Given the description of an element on the screen output the (x, y) to click on. 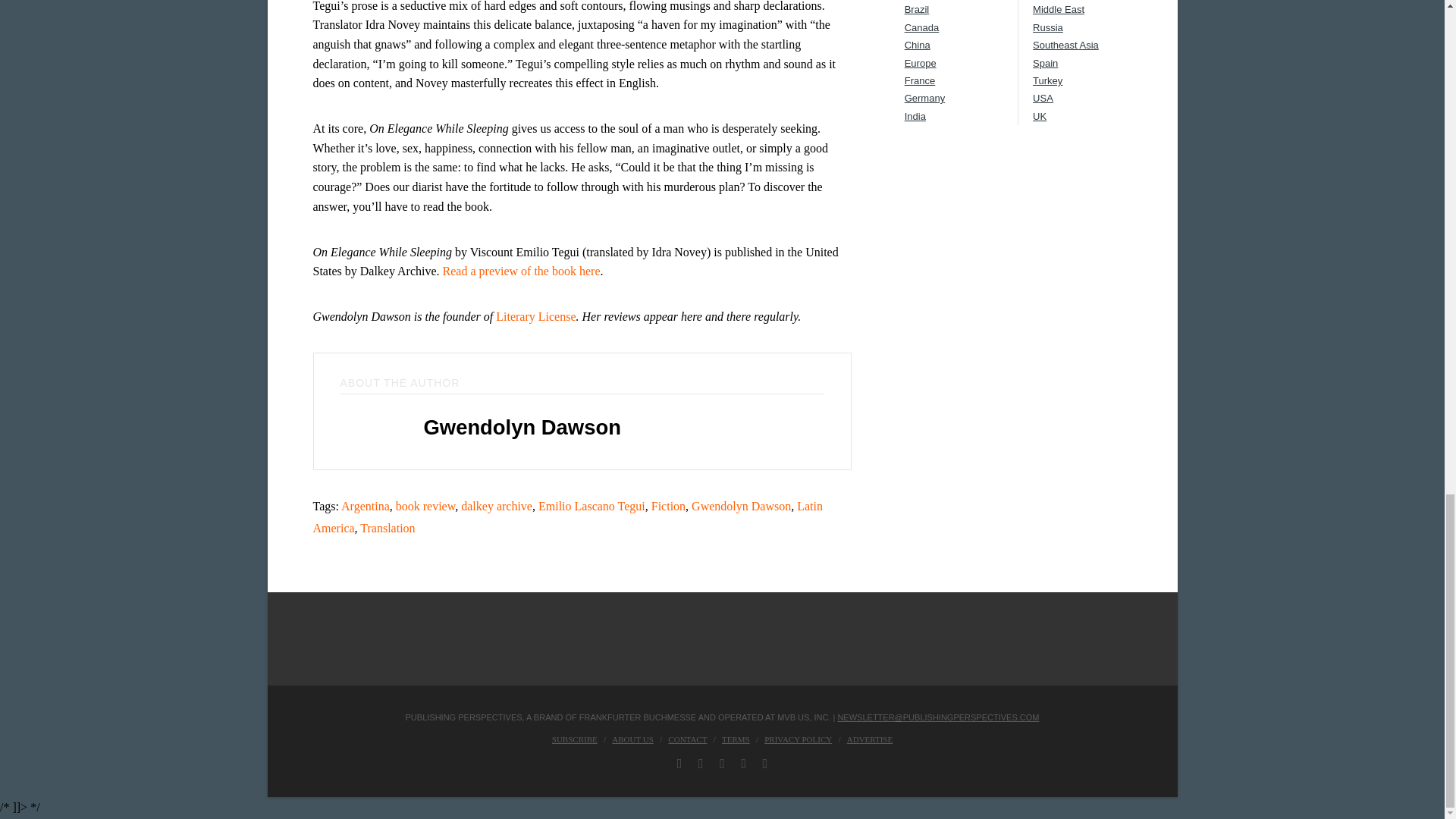
Literary License (535, 316)
Read a preview of the book here (520, 270)
Subscribe to Publishing Perspectives (573, 738)
Argentina (365, 505)
book review (425, 505)
dalkey archive (496, 505)
Emilio Lascano Tegui (591, 505)
Terms and Conditions (735, 738)
Fiction (667, 505)
